Given the description of an element on the screen output the (x, y) to click on. 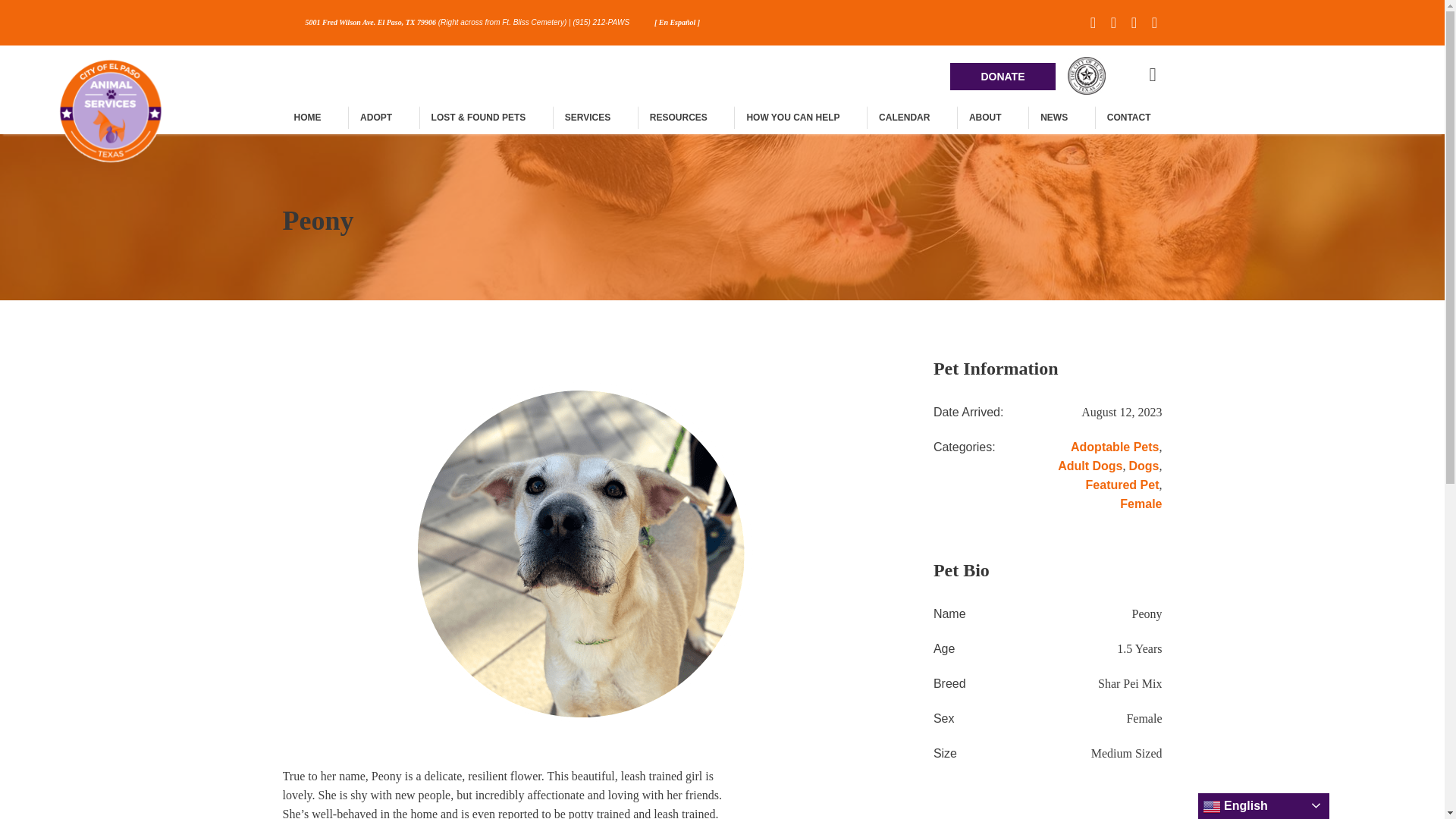
ElPasoAnimalServicesInstagram (1154, 22)
ElPasoAnimalServicesInstagram (797, 600)
ADOPT (375, 117)
ElPasoAnimalServicesTwitter (1113, 22)
ElPasoAnimalServicesYouTube (1133, 22)
DONATE (1002, 76)
HOME (306, 117)
ElPasoAnimalServicesYouTube (749, 600)
ElPasoAnimalServicesFacebook (652, 600)
RESOURCES (678, 117)
ElPasoAnimalServicesFacebook (1093, 22)
SERVICES (587, 117)
August 12, 2023 (1121, 411)
